Given the description of an element on the screen output the (x, y) to click on. 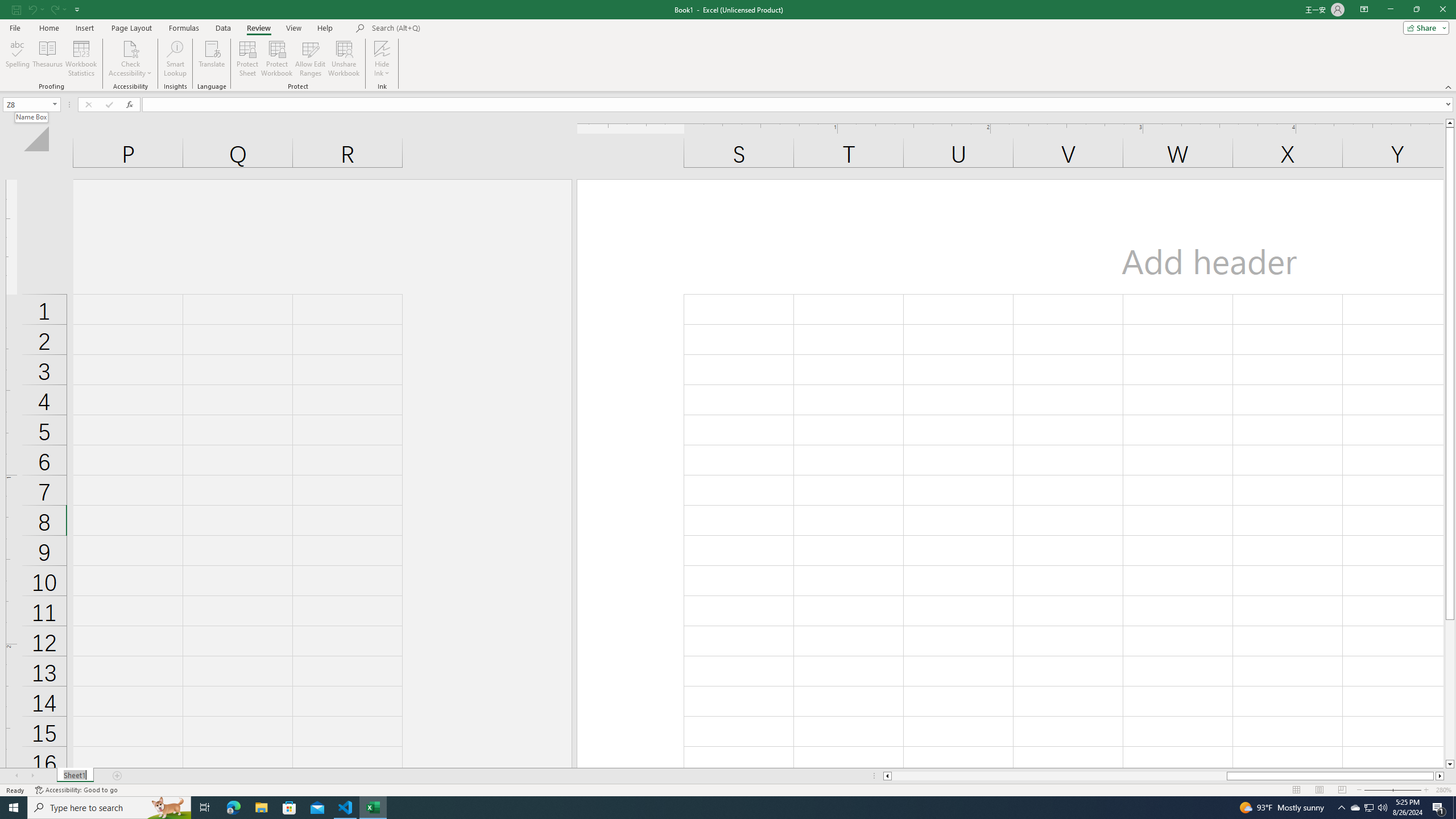
Hide Ink (381, 48)
Workbook Statistics (81, 58)
